Given the description of an element on the screen output the (x, y) to click on. 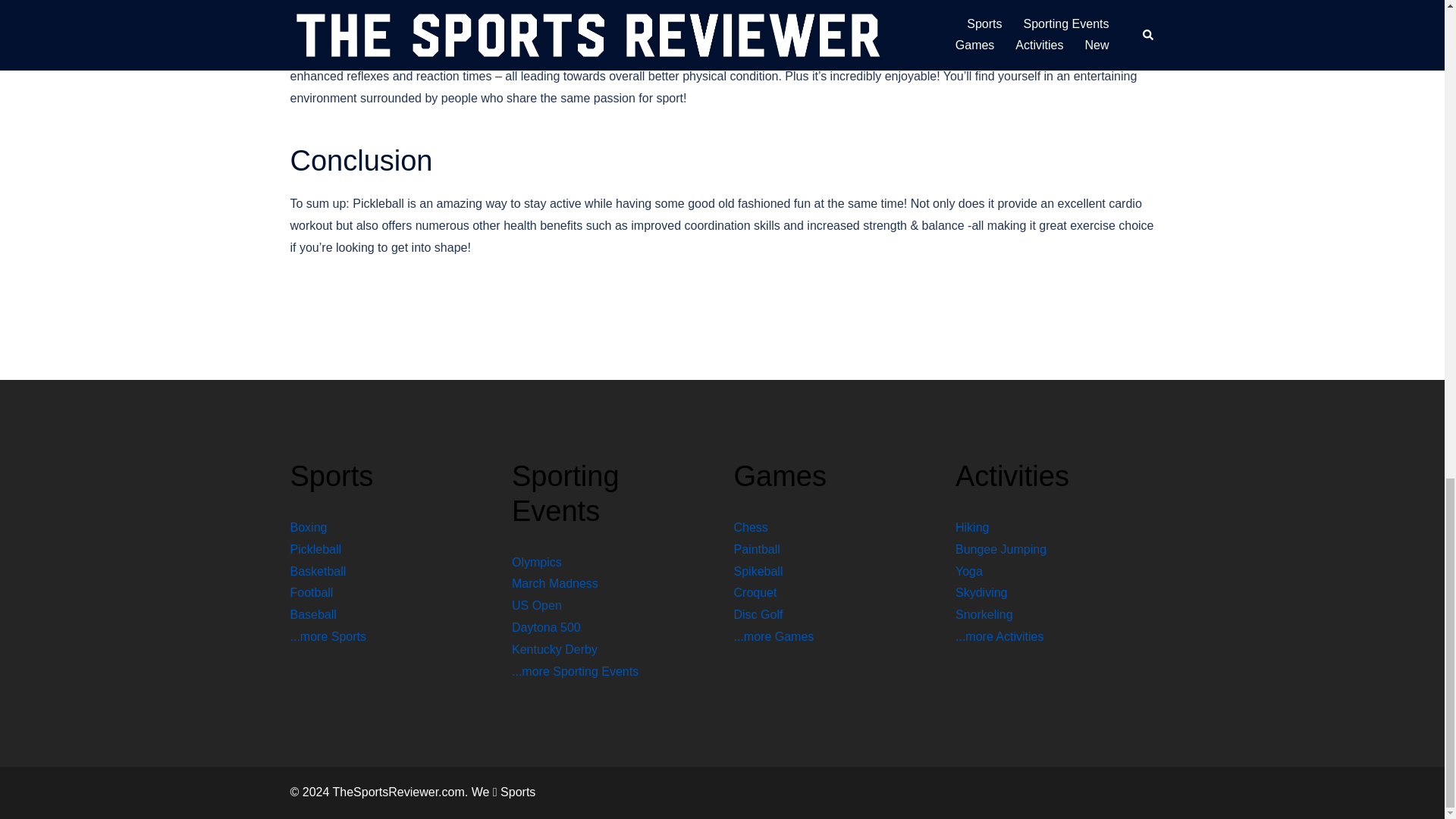
Pickleball (314, 549)
...more Sporting Events (575, 671)
Spikeball (758, 571)
Boxing (307, 526)
Chess (750, 526)
Skydiving (981, 592)
Hiking (971, 526)
Yoga (968, 571)
Snorkeling (984, 614)
Football (311, 592)
Bungee Jumping (1000, 549)
Paintball (756, 549)
Basketball (317, 571)
March Madness (555, 583)
Olympics (537, 562)
